Given the description of an element on the screen output the (x, y) to click on. 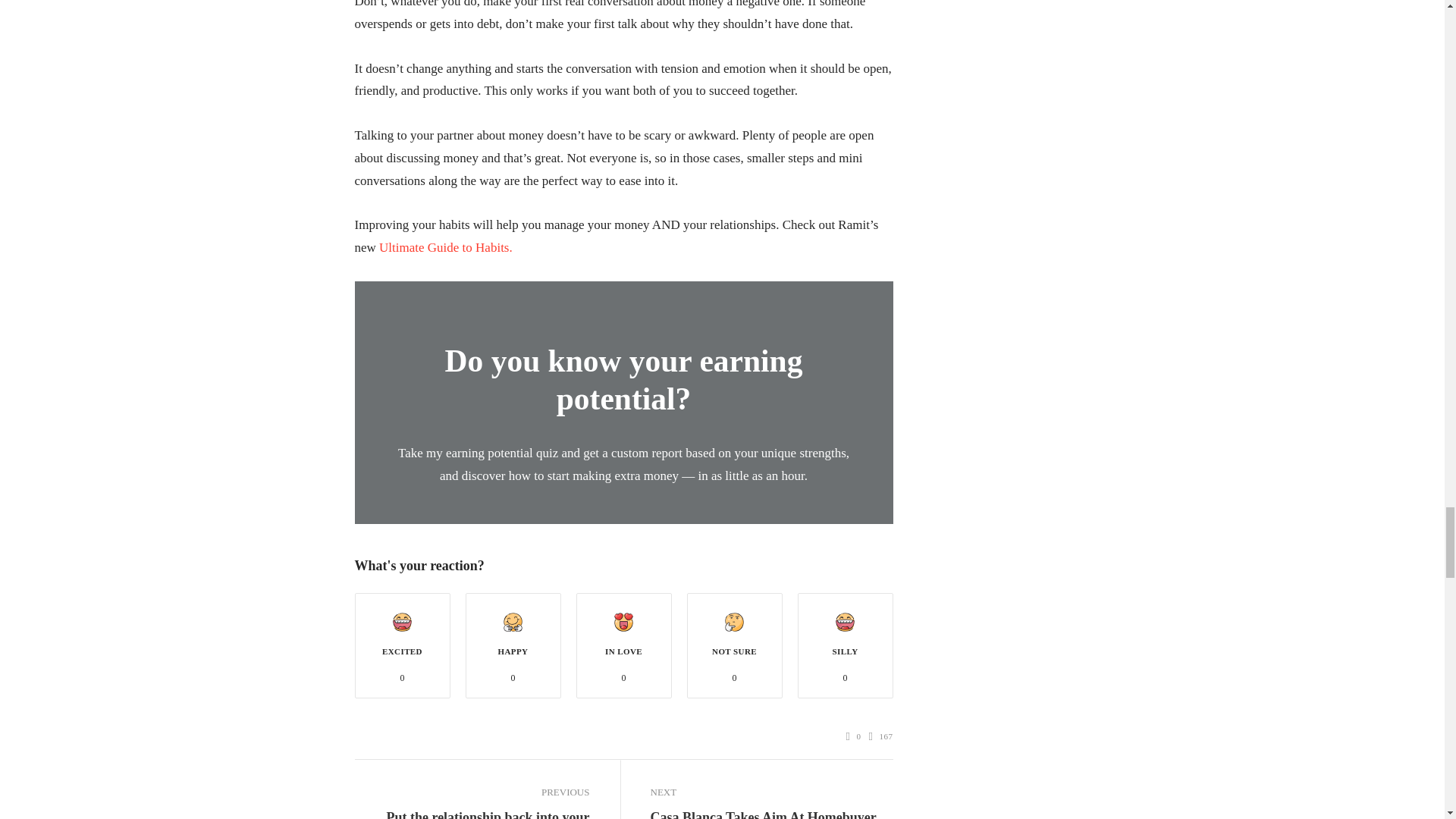
167 (881, 736)
0 (853, 736)
Ultimate Guide to Habits. (445, 247)
PREVIOUS (472, 792)
Put the relationship back into your CRM (472, 813)
NEXT (767, 792)
